Given the description of an element on the screen output the (x, y) to click on. 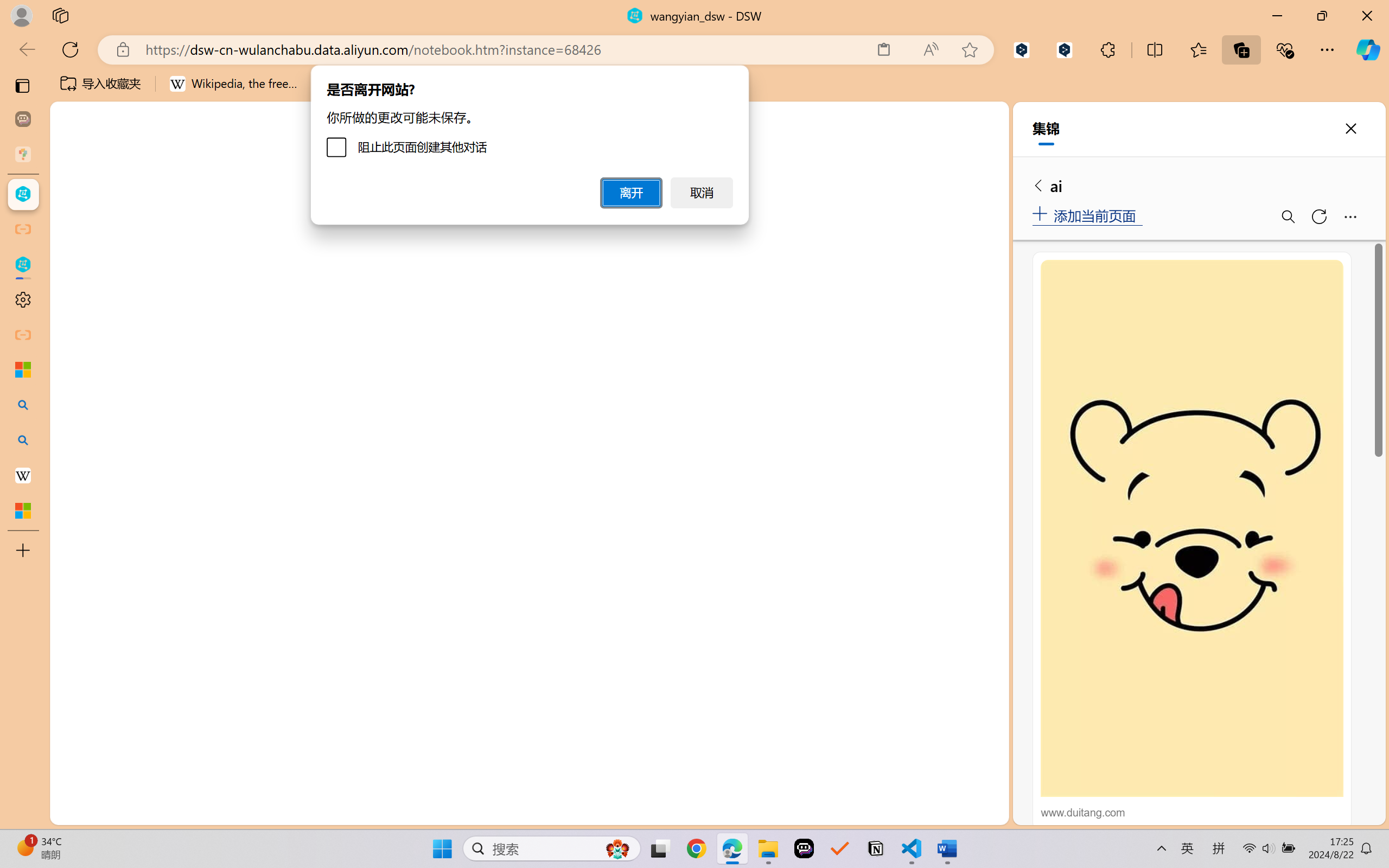
Terminal 3 bash (949, 264)
Earth - Wikipedia (22, 475)
Manage (73, 778)
Timeline Section (179, 791)
Microsoft security help and learning (22, 369)
Customize Layout... (995, 159)
